Given the description of an element on the screen output the (x, y) to click on. 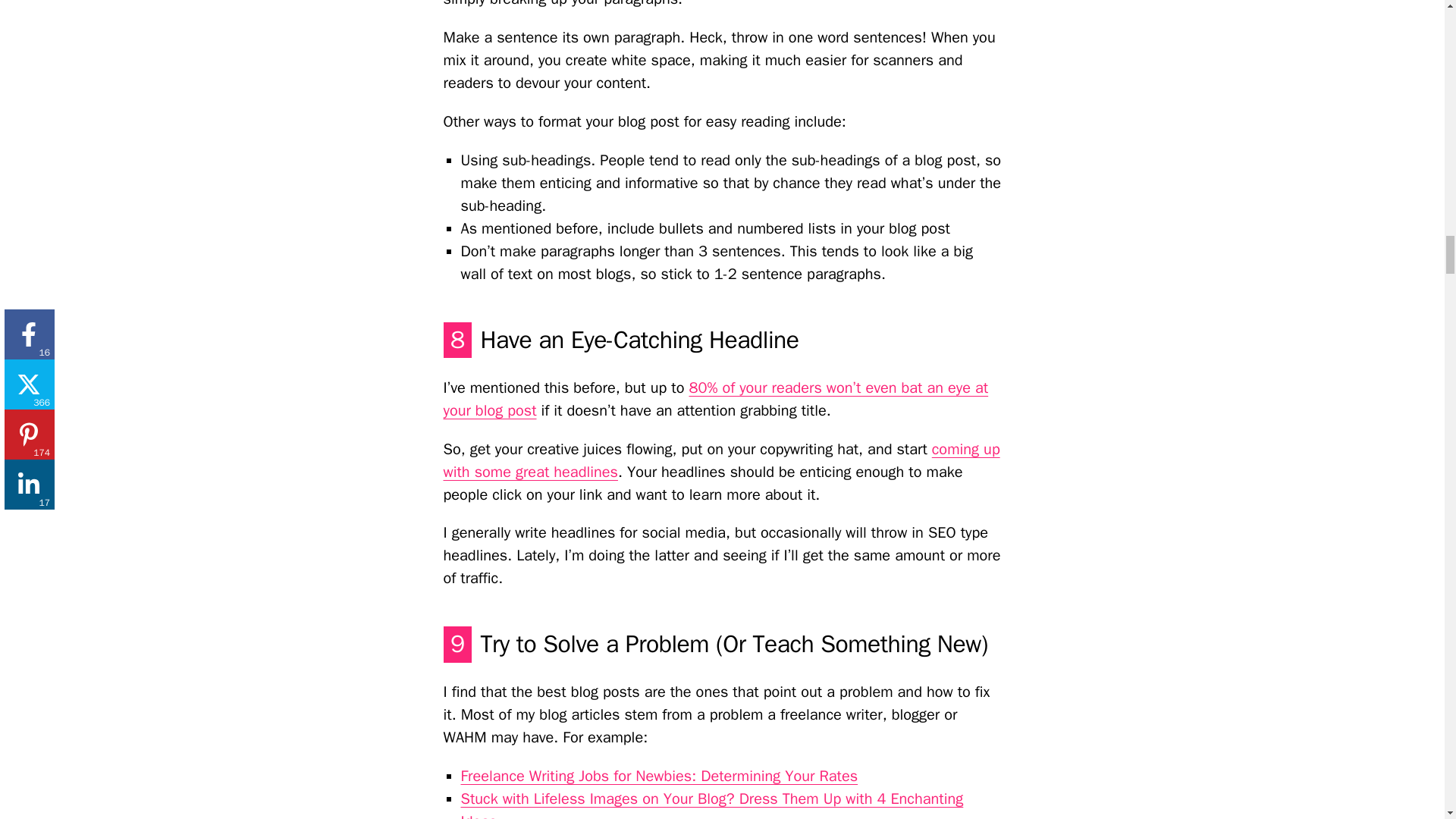
coming up with some great headlines (720, 460)
Freelance Writing Jobs for Newbies: Determing Your Rates (660, 775)
Freelance Writing Jobs for Newbies: Determining Your Rates (660, 775)
